Given the description of an element on the screen output the (x, y) to click on. 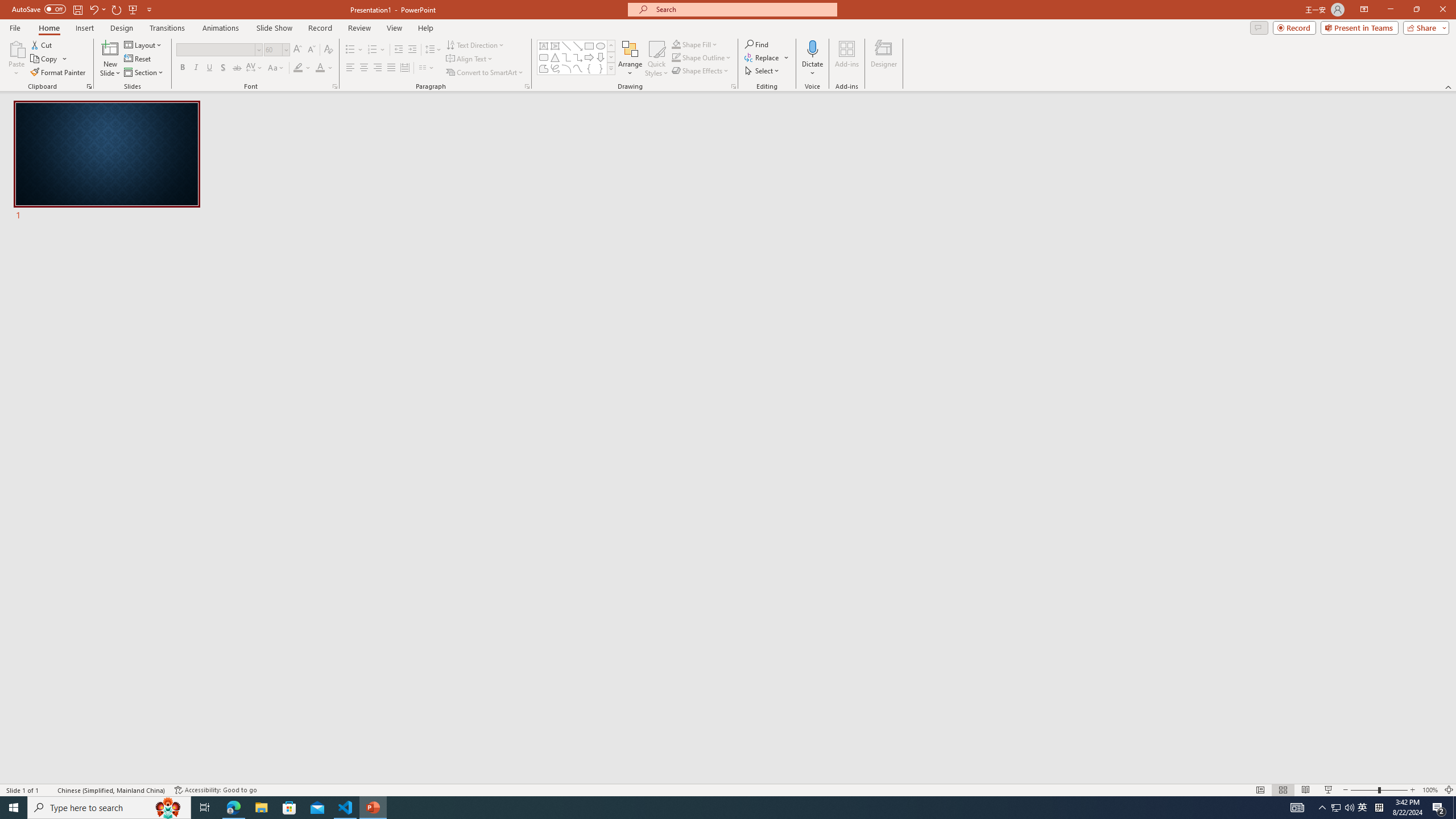
Zoom 100% (1430, 790)
